Given the description of an element on the screen output the (x, y) to click on. 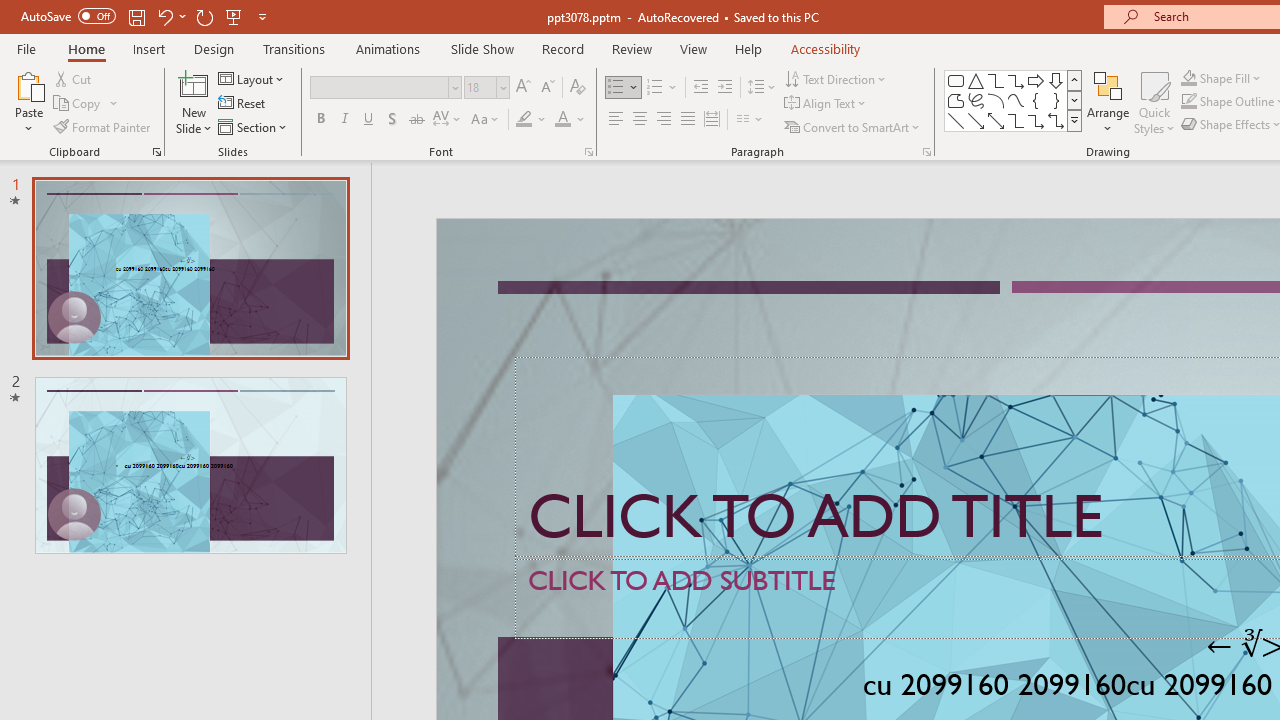
Shape Outline Green, Accent 1 (1188, 101)
